Given the description of an element on the screen output the (x, y) to click on. 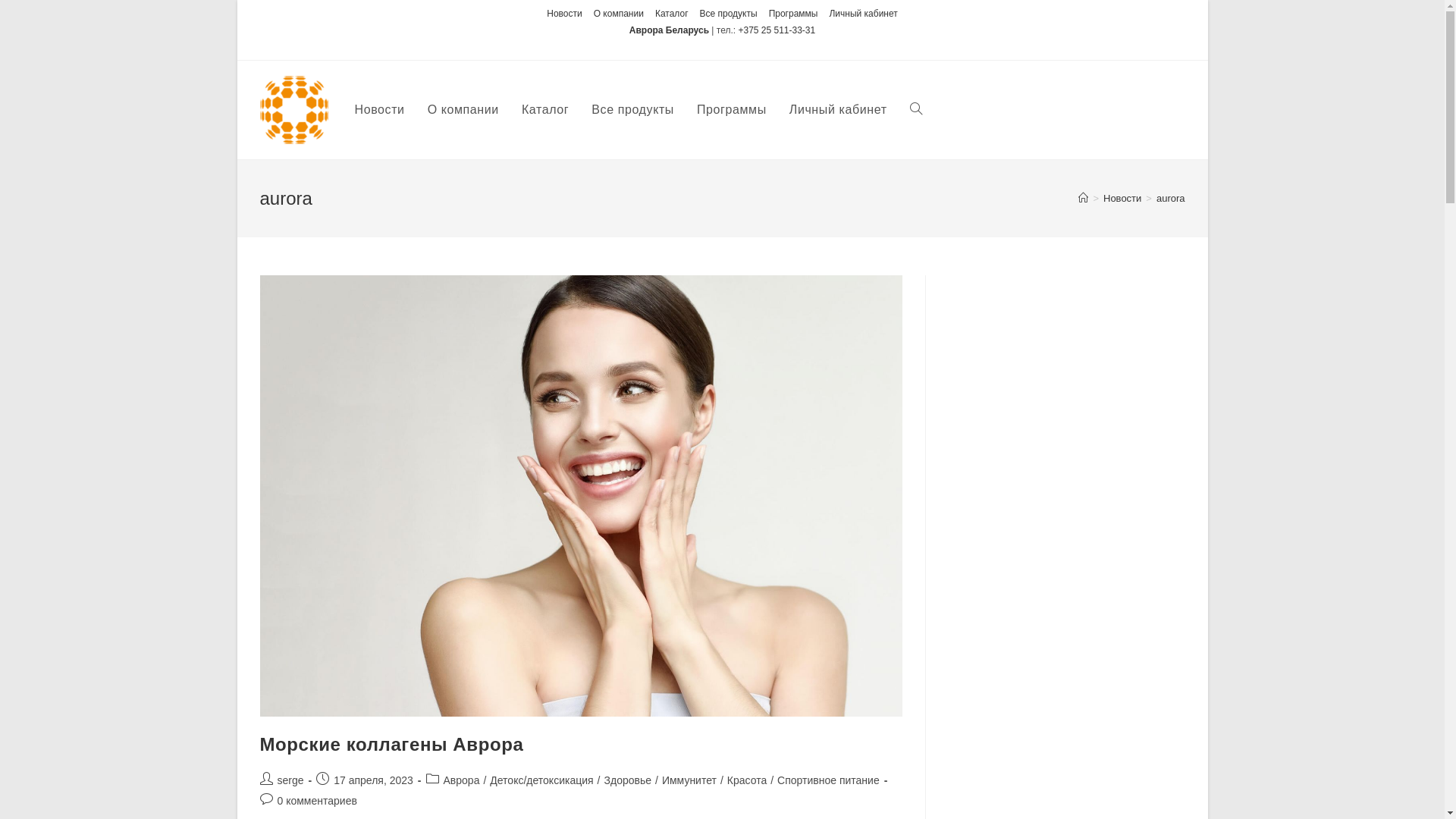
serge Element type: text (290, 780)
+375 25 511-33-31 Element type: text (776, 30)
aurora Element type: text (1170, 197)
